Given the description of an element on the screen output the (x, y) to click on. 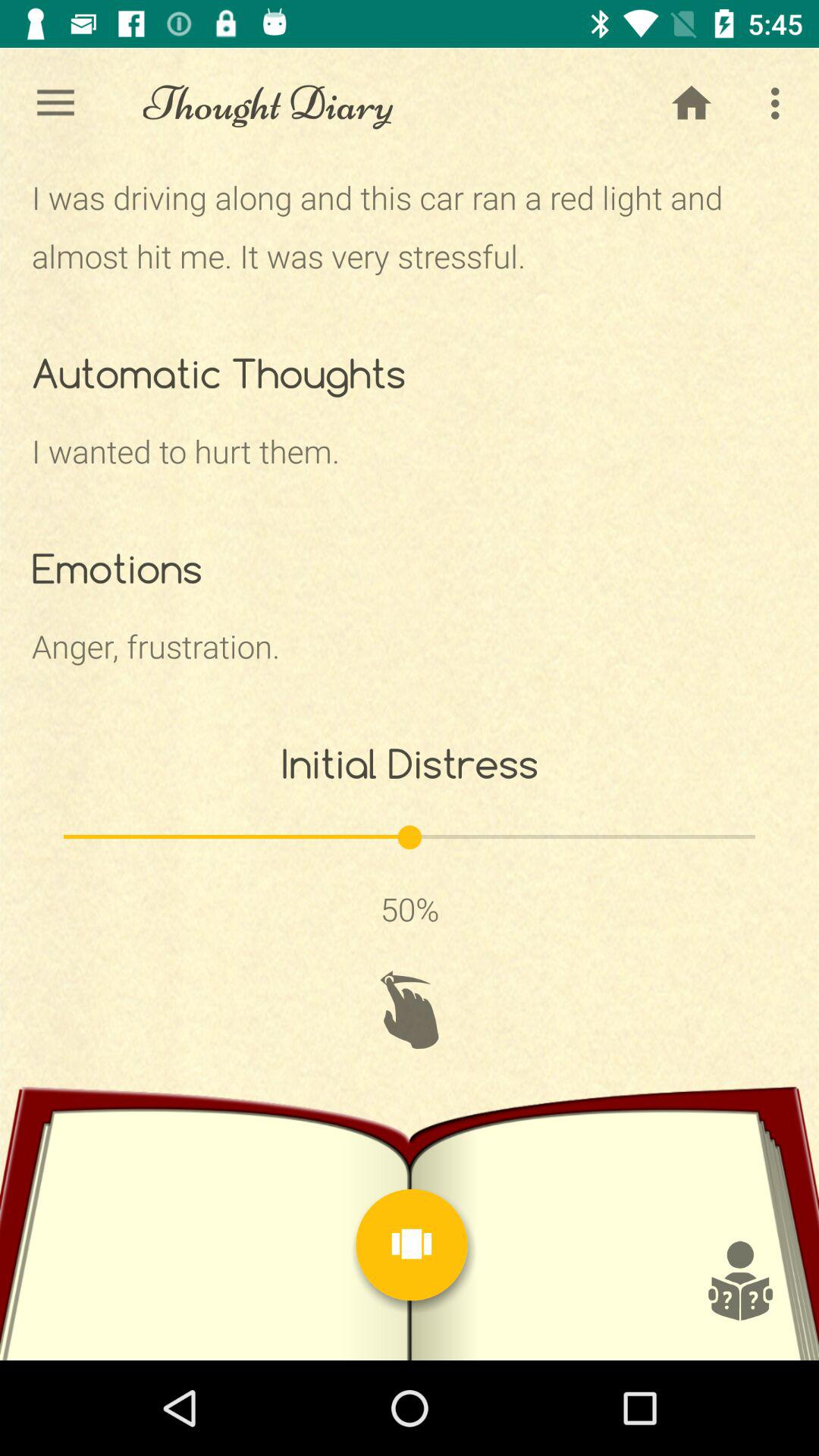
moving of the option (409, 1009)
